Given the description of an element on the screen output the (x, y) to click on. 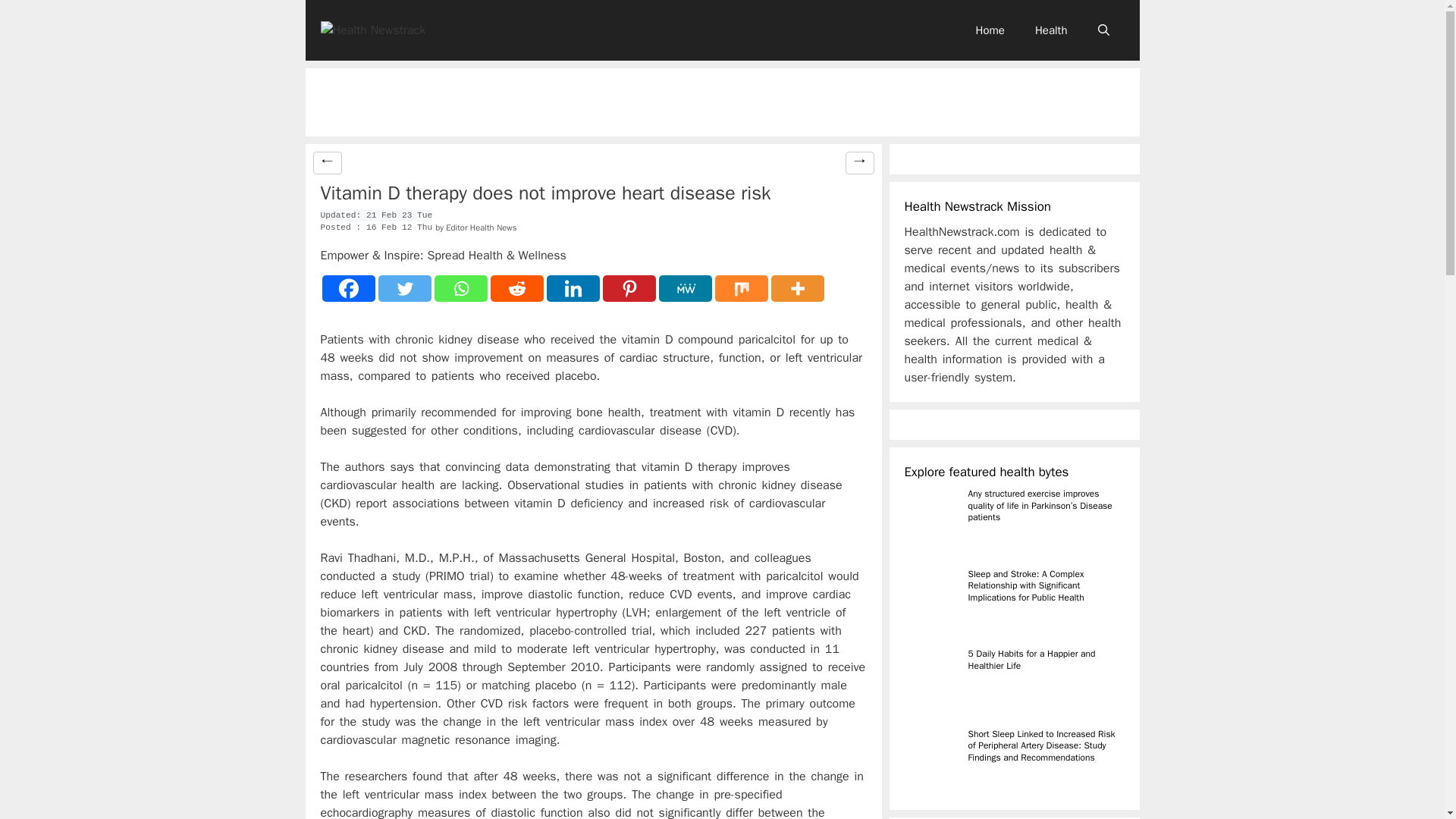
Home (990, 30)
Health (1051, 30)
Mix (740, 288)
MeWe (684, 288)
Twitter (403, 288)
Facebook (347, 288)
Whatsapp (459, 288)
More (797, 288)
Linkedin (572, 288)
Pinterest (628, 288)
Reddit (516, 288)
